Given the description of an element on the screen output the (x, y) to click on. 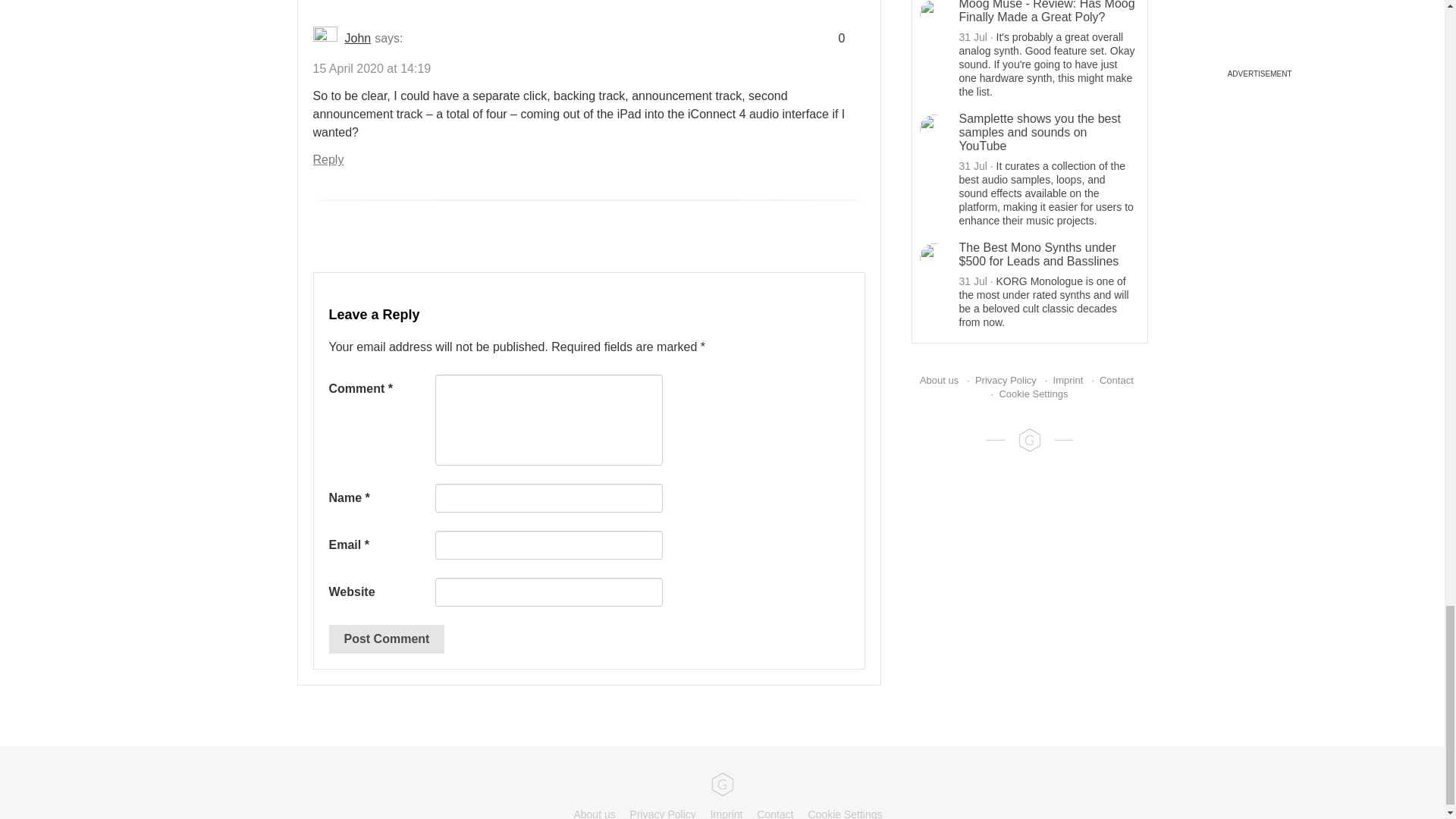
Post Comment (387, 638)
